Given the description of an element on the screen output the (x, y) to click on. 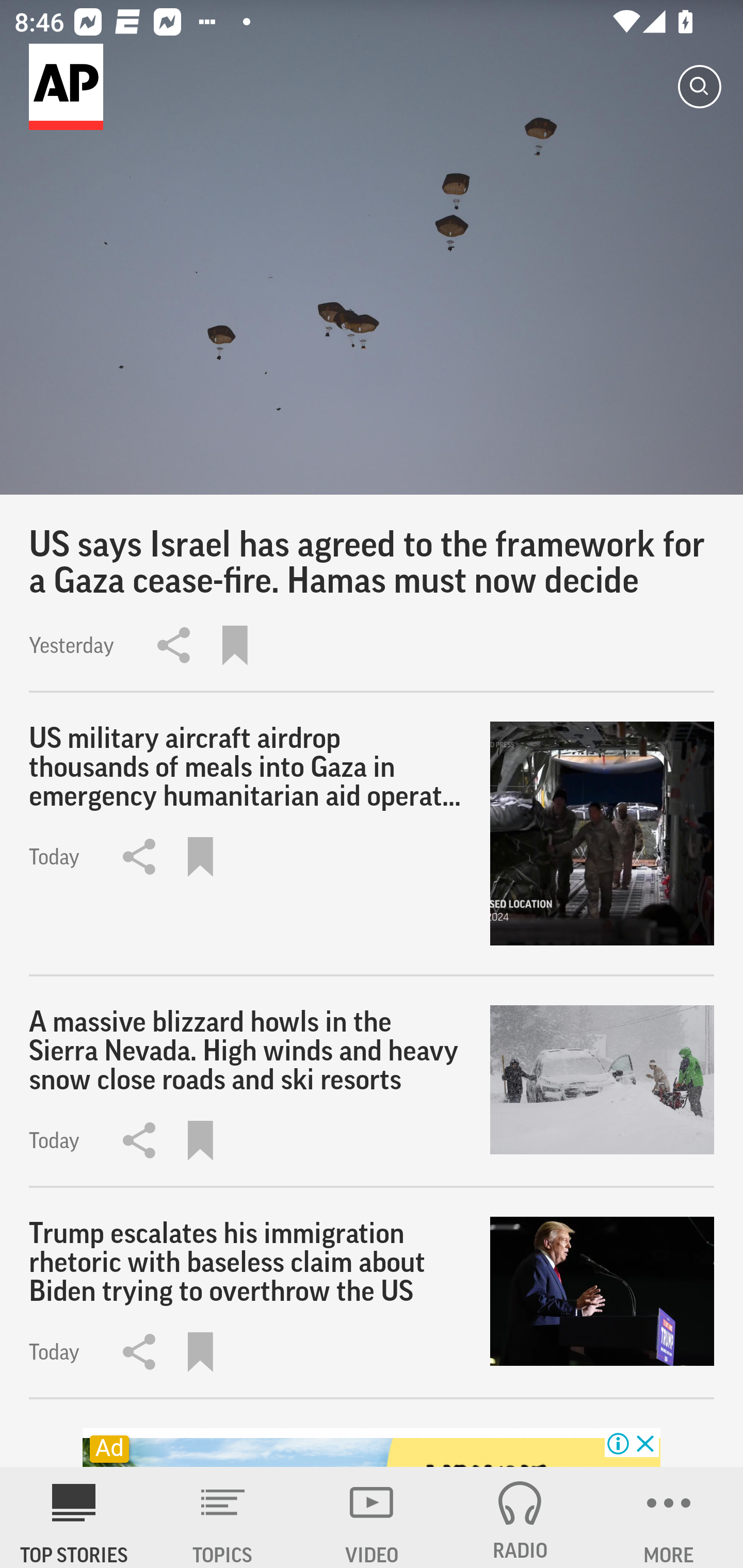
AP News TOP STORIES (74, 1517)
TOPICS (222, 1517)
VIDEO (371, 1517)
RADIO (519, 1517)
MORE (668, 1517)
